Given the description of an element on the screen output the (x, y) to click on. 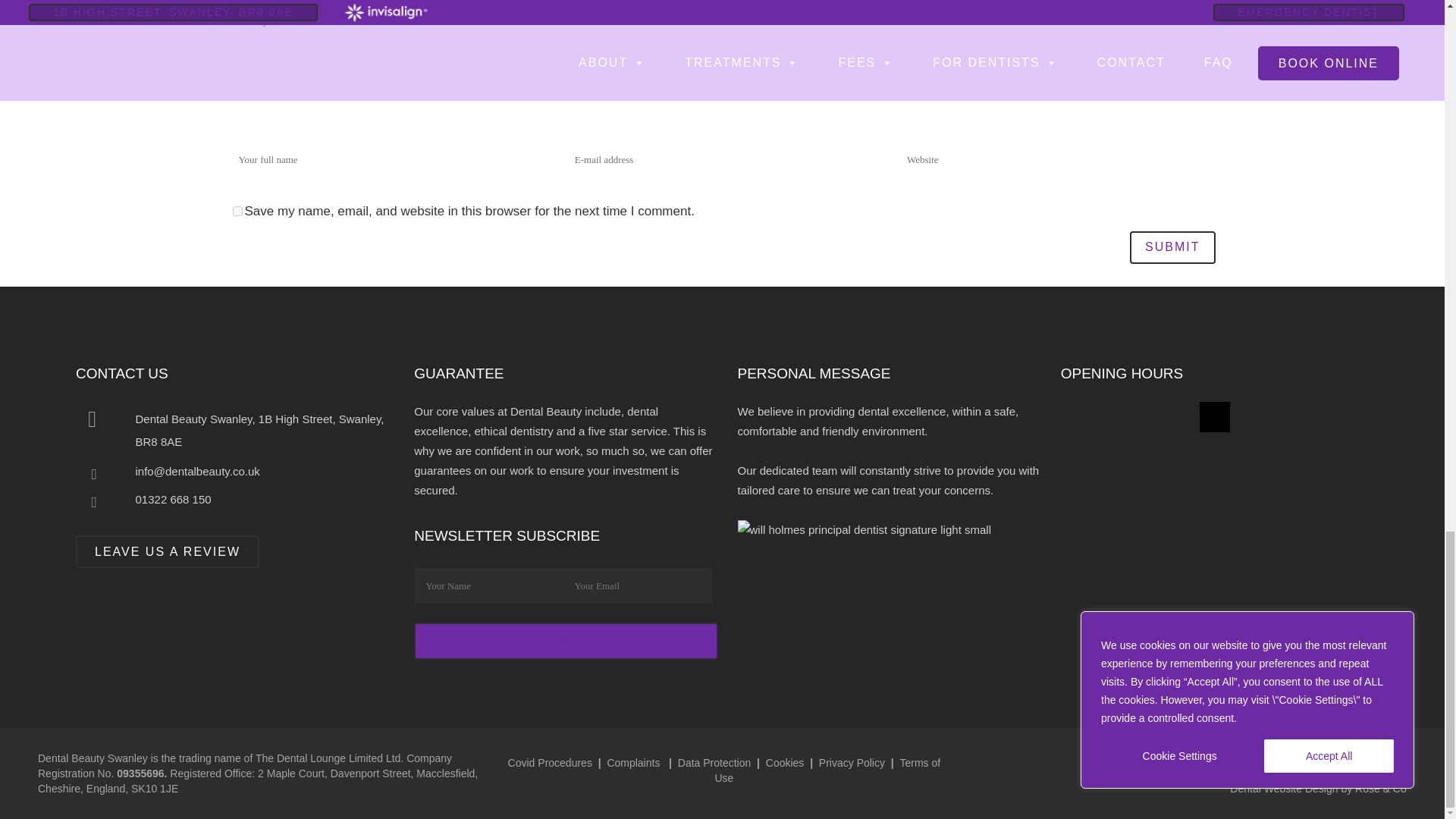
Submit (1171, 246)
Send (565, 641)
yes (236, 211)
